Given the description of an element on the screen output the (x, y) to click on. 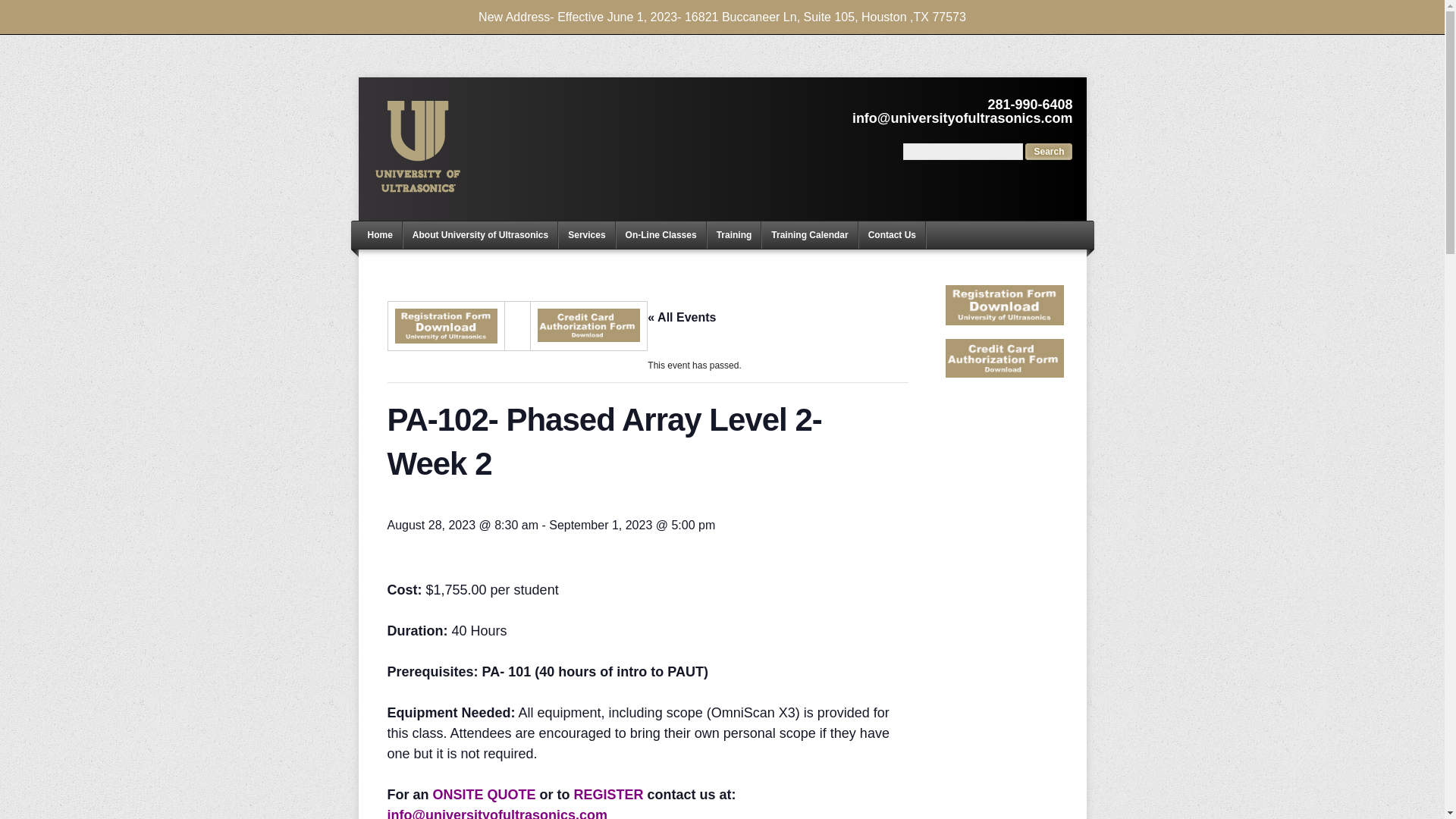
Registration Form (1004, 305)
On-Line Classes (660, 234)
Contact Us (892, 234)
Search (1048, 151)
Home (379, 234)
About University of Ultrasonics (480, 234)
Training (734, 234)
Search (1048, 151)
Training Calendar (809, 234)
Registration Form (445, 325)
